Given the description of an element on the screen output the (x, y) to click on. 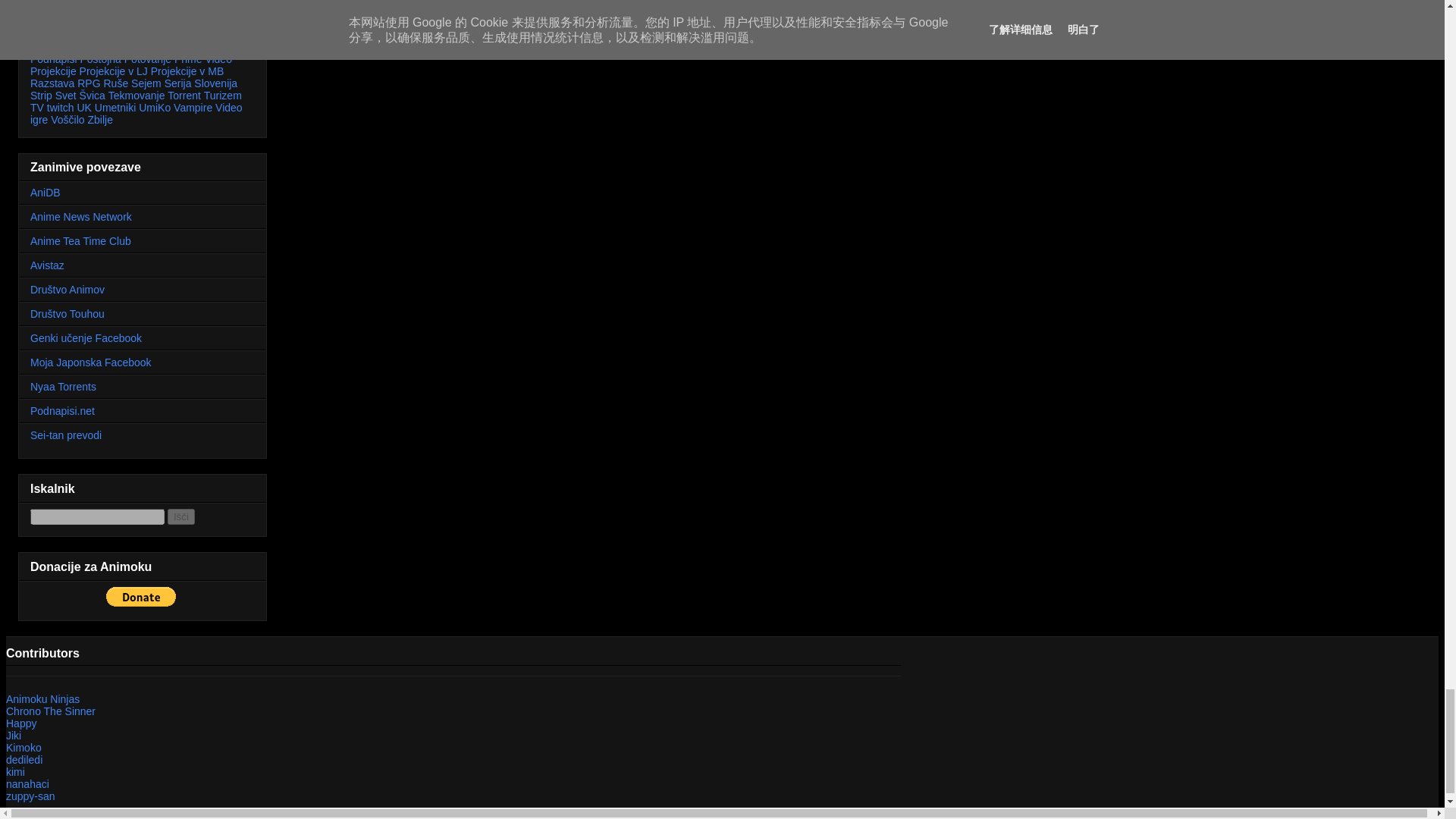
PayPal - The safer, easier way to pay online! (141, 596)
